Given the description of an element on the screen output the (x, y) to click on. 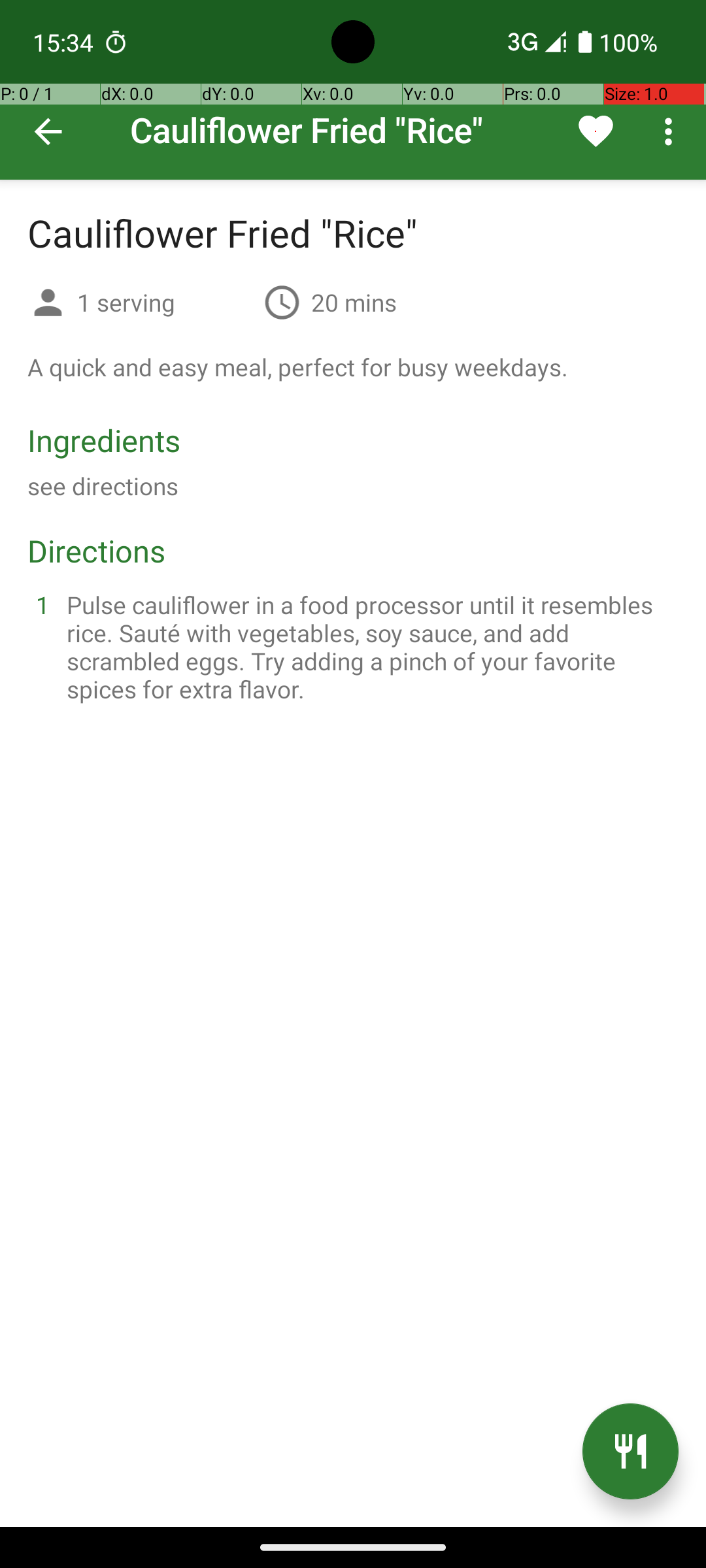
Pulse cauliflower in a food processor until it resembles rice. Sauté with vegetables, soy sauce, and add scrambled eggs. Try adding a pinch of your favorite spices for extra flavor. Element type: android.widget.TextView (368, 646)
